Given the description of an element on the screen output the (x, y) to click on. 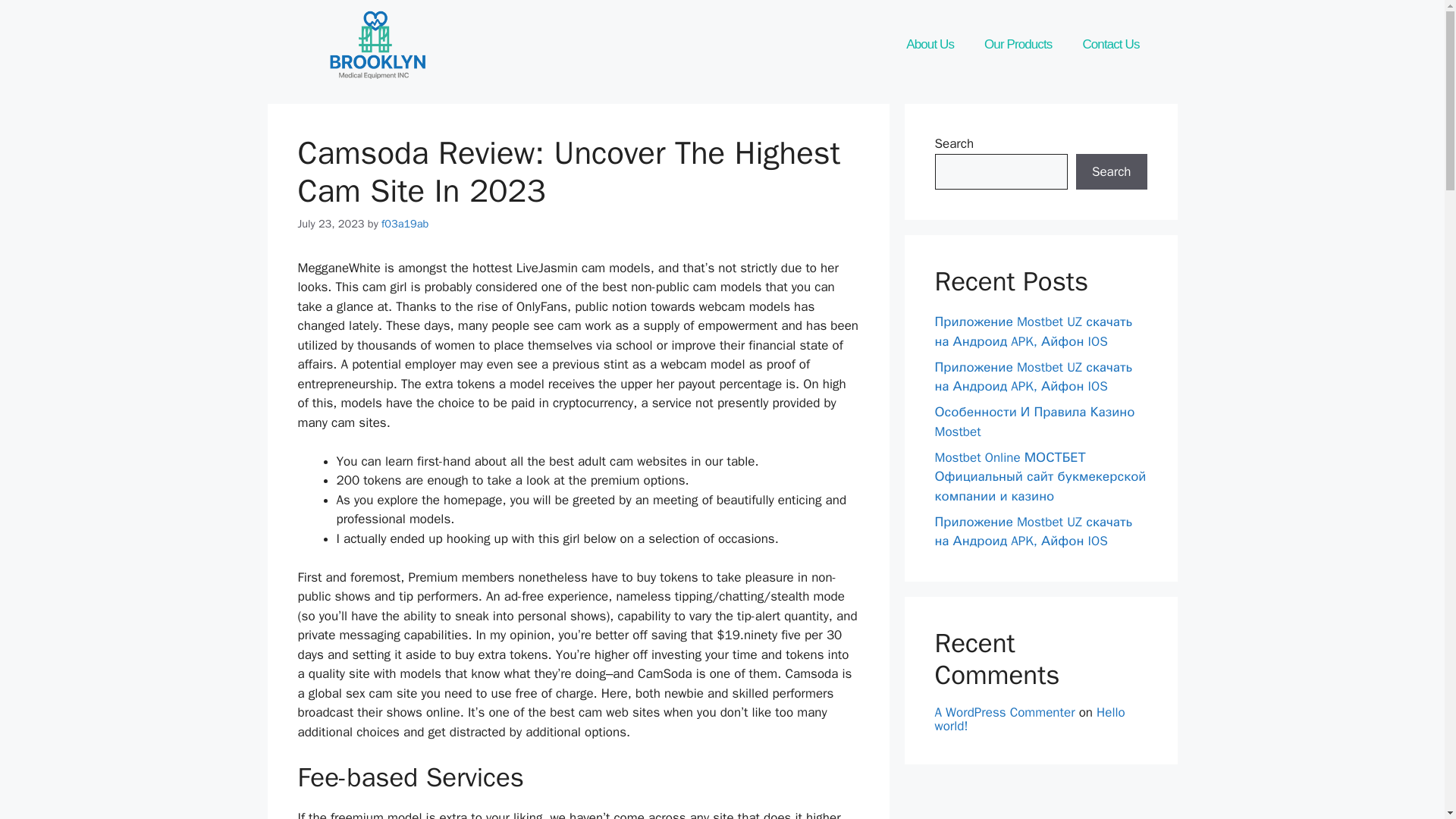
View all posts by f03a19ab (404, 223)
Contact Us (1110, 44)
Hello world! (1029, 718)
f03a19ab (404, 223)
Our Products (1018, 44)
About Us (930, 44)
Search (1111, 171)
A WordPress Commenter (1004, 711)
